Given the description of an element on the screen output the (x, y) to click on. 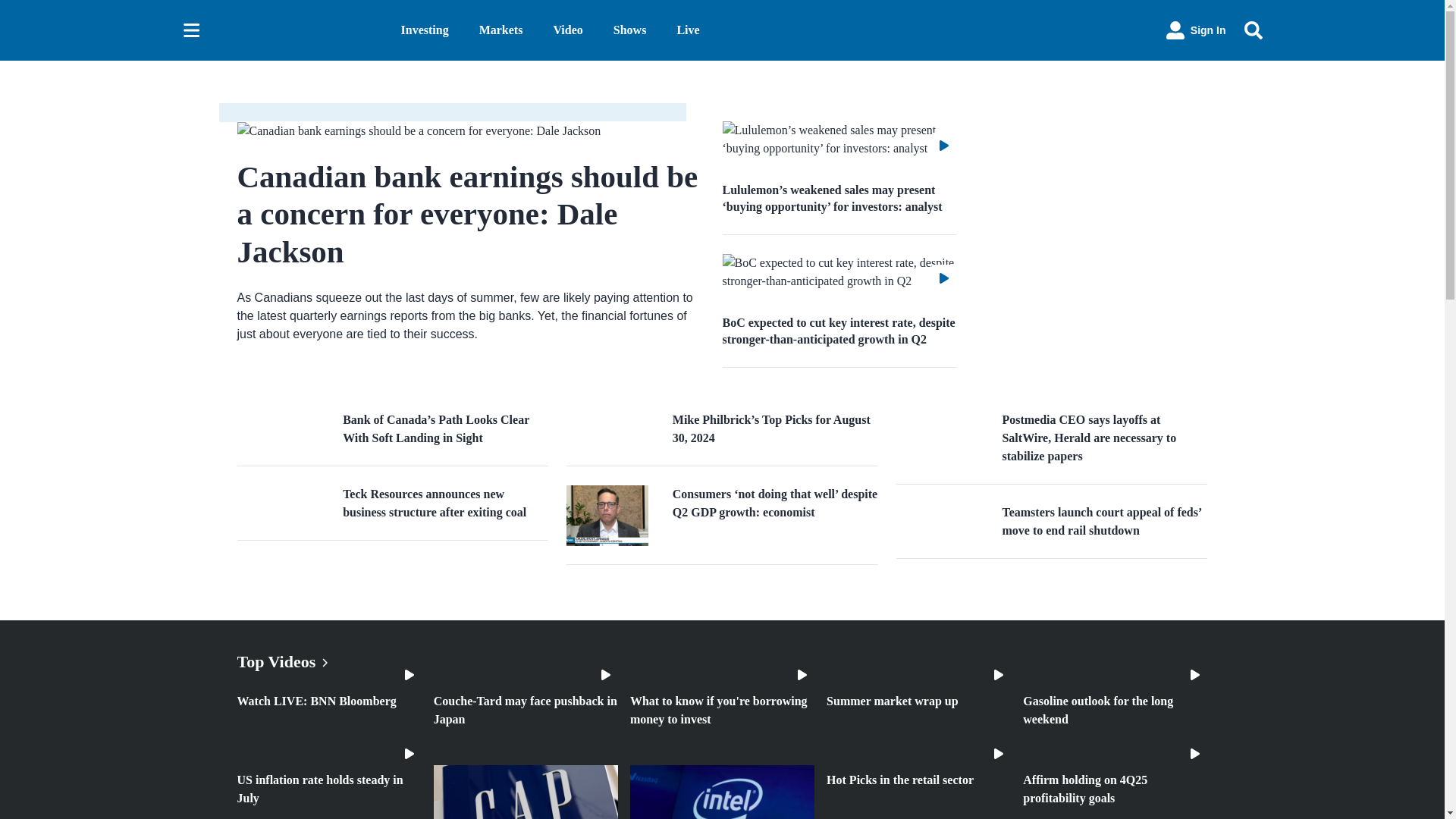
Shows (629, 30)
Sections (191, 30)
Live (687, 30)
Sign In (1195, 30)
Investing (424, 30)
Markets (500, 30)
Video (567, 30)
